Given the description of an element on the screen output the (x, y) to click on. 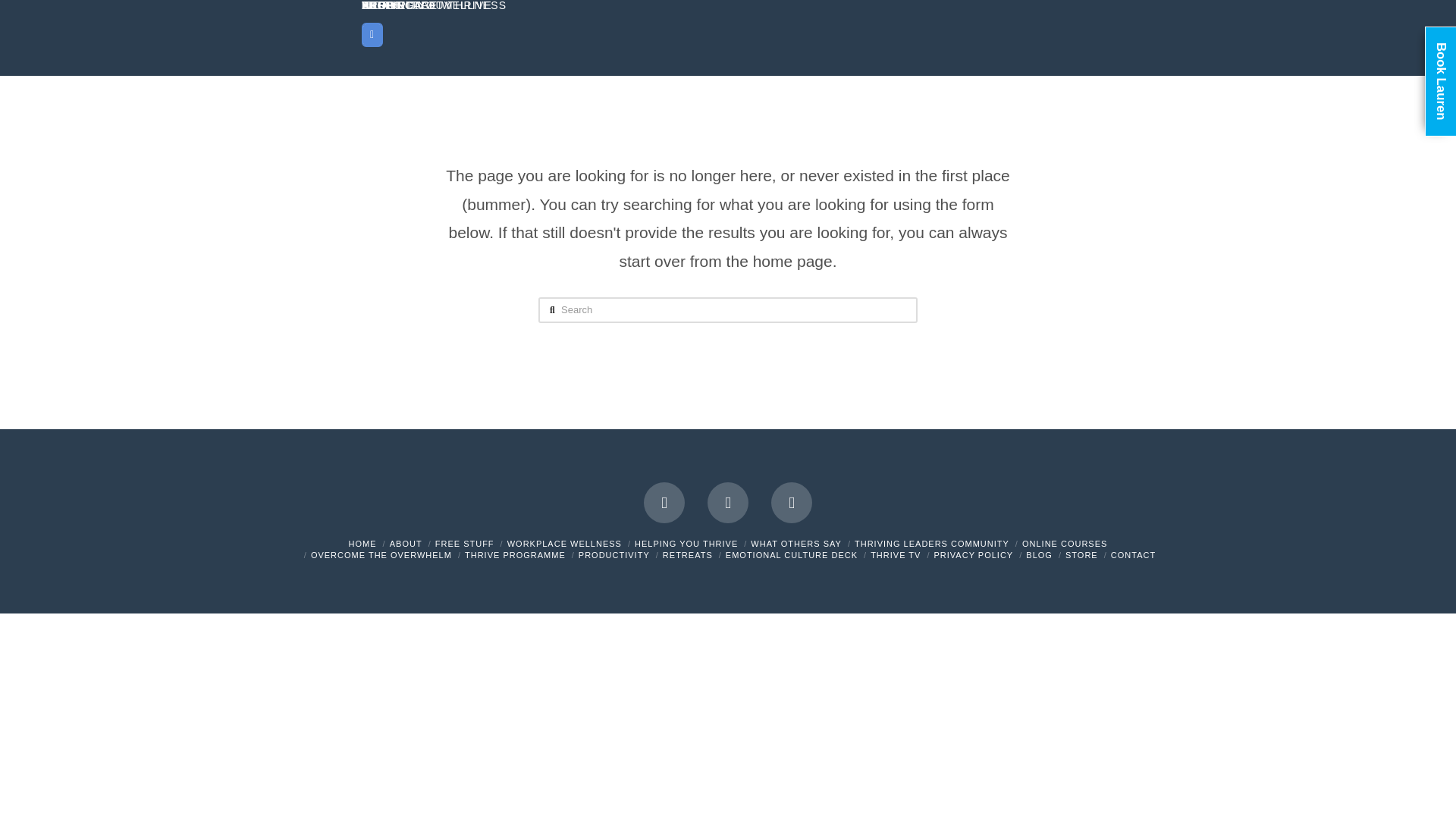
OVERCOME THE OVERWHELM (381, 554)
WORKPLACE WELLNESS (563, 542)
PRODUCTIVITY (613, 554)
Facebook (663, 502)
ONLINE COURSES (1064, 542)
HELPING YOU THRIVE (686, 542)
EMOTIONAL CULTURE DECK (791, 554)
ABOUT (406, 542)
HOME (363, 542)
FREE STUFF (465, 542)
THRIVE PROGRAMME (515, 554)
THRIVE TV (895, 554)
LinkedIn (791, 502)
RETREATS (687, 554)
WHAT OTHERS SAY (796, 542)
